Given the description of an element on the screen output the (x, y) to click on. 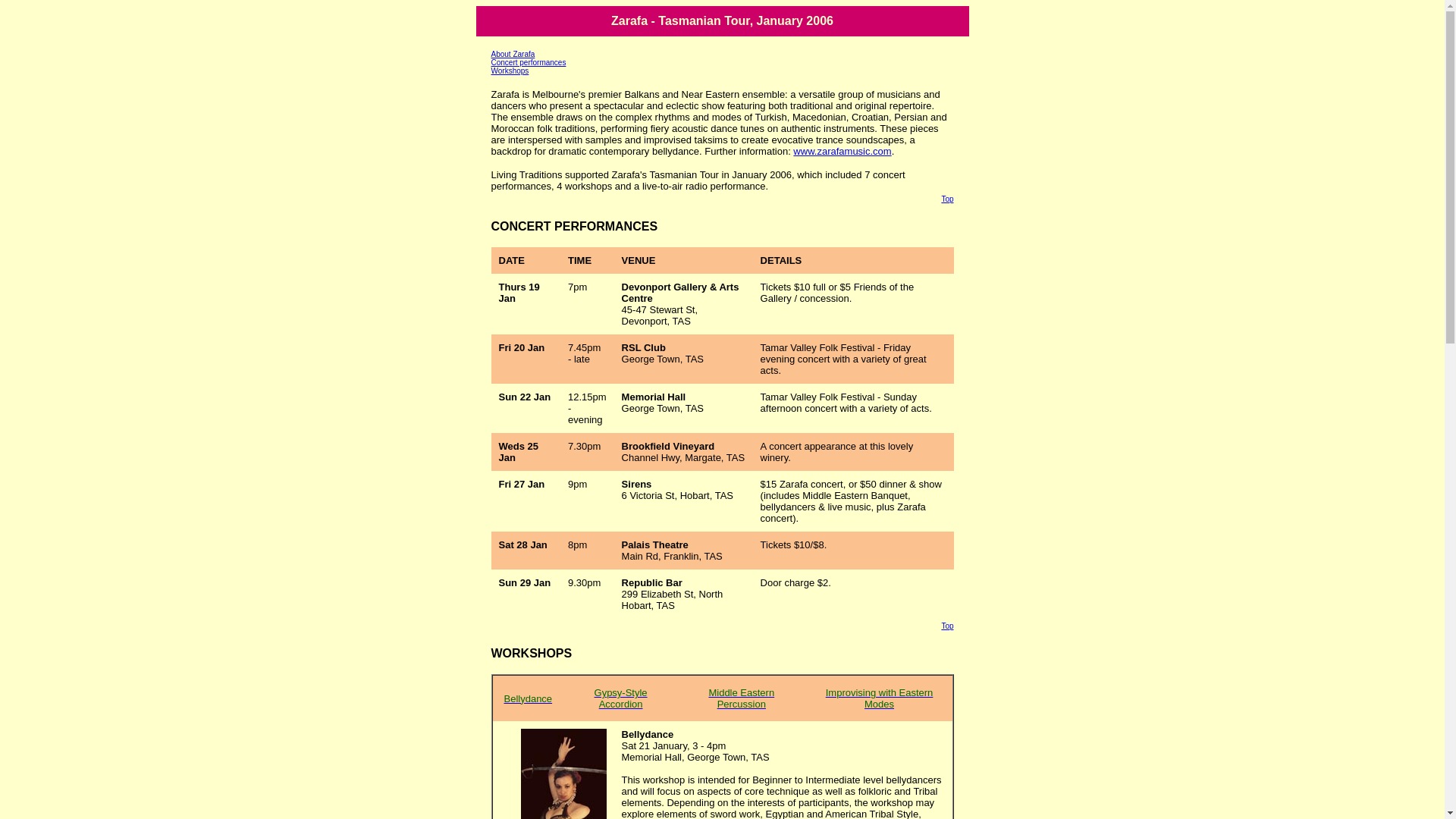
Gypsy-Style Accordion Element type: text (620, 698)
Middle Eastern Percussion Element type: text (741, 698)
Improvising with Eastern Modes Element type: text (879, 698)
Top Element type: text (947, 625)
Concert performances Element type: text (528, 62)
www.zarafamusic.com Element type: text (842, 150)
Bellydance Element type: text (527, 698)
About Zarafa Element type: text (513, 54)
Workshops Element type: text (510, 70)
Top Element type: text (947, 198)
